Given the description of an element on the screen output the (x, y) to click on. 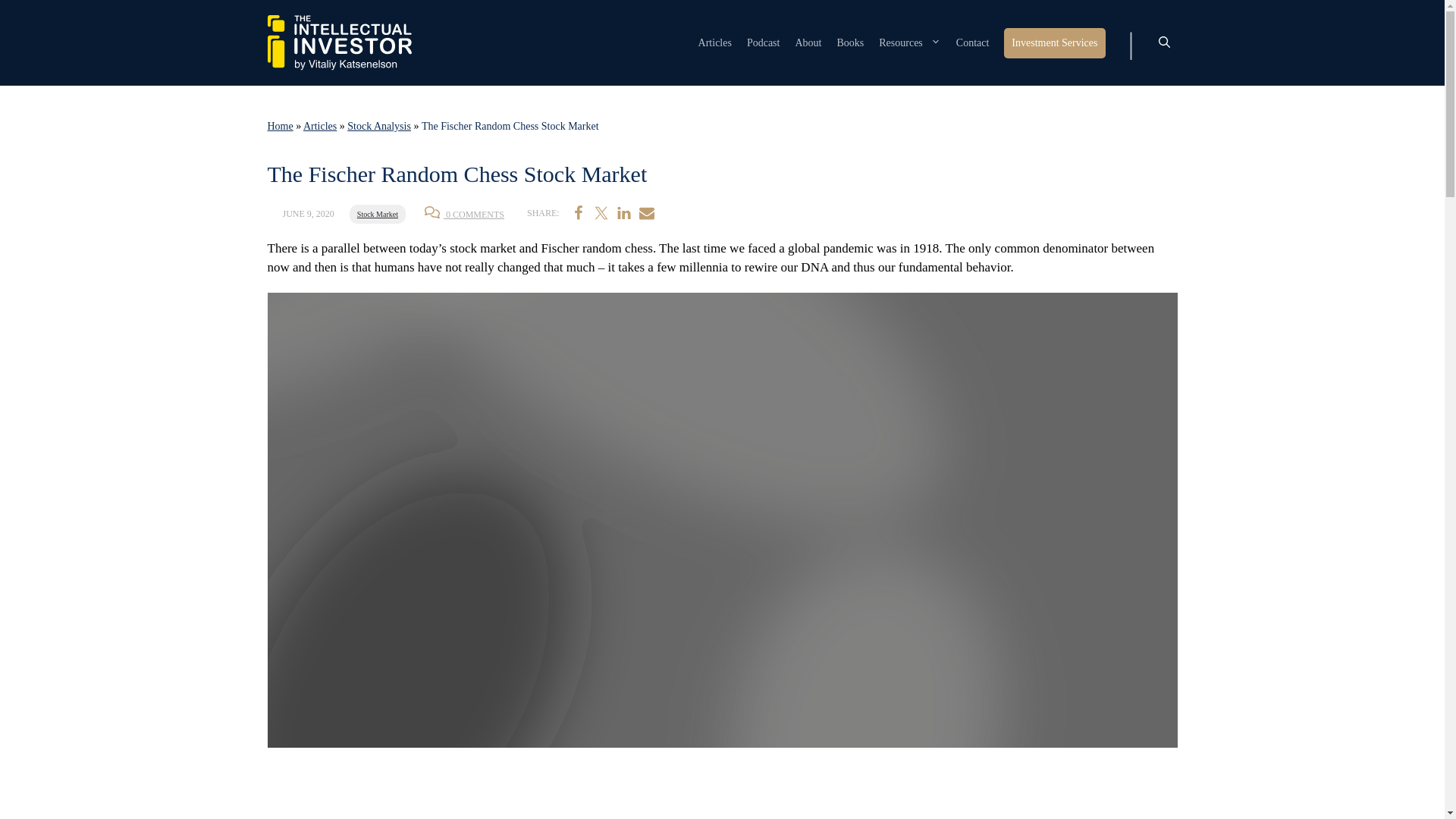
Books (849, 42)
Contact (973, 42)
Resources (909, 42)
Articles (319, 125)
Home (279, 125)
Share on Twitter (600, 212)
Investment Services (1054, 42)
0 COMMENTS (464, 214)
Share on LinkedIn (623, 212)
Articles (715, 42)
Share via Email (646, 212)
Podcast (763, 42)
Stock Market (377, 213)
Stock Analysis (378, 125)
Share on Facebook (578, 212)
